Given the description of an element on the screen output the (x, y) to click on. 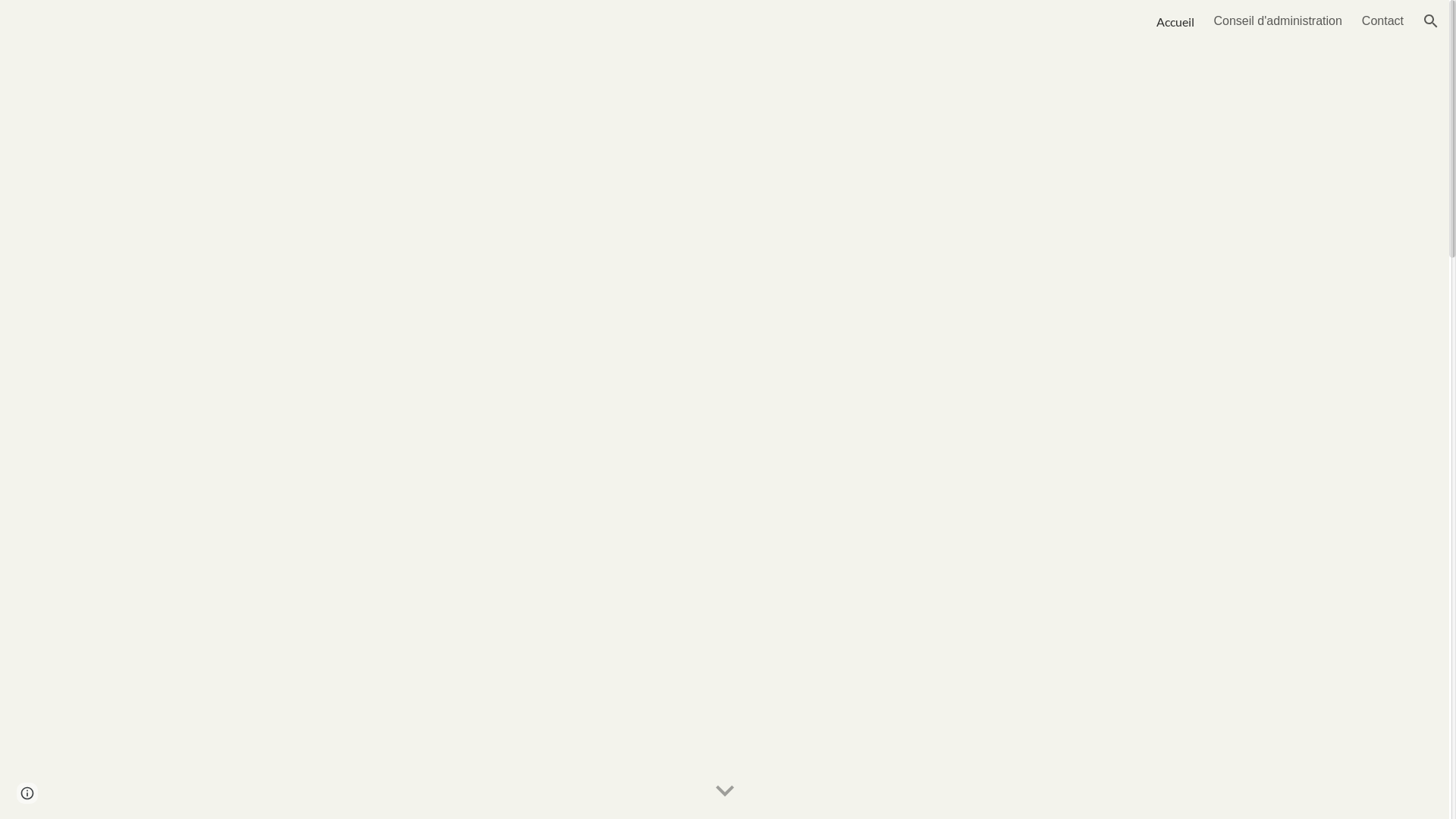
Conseil d'administration Element type: text (1277, 21)
Accueil Element type: text (1174, 20)
Contact Element type: text (1382, 21)
